Given the description of an element on the screen output the (x, y) to click on. 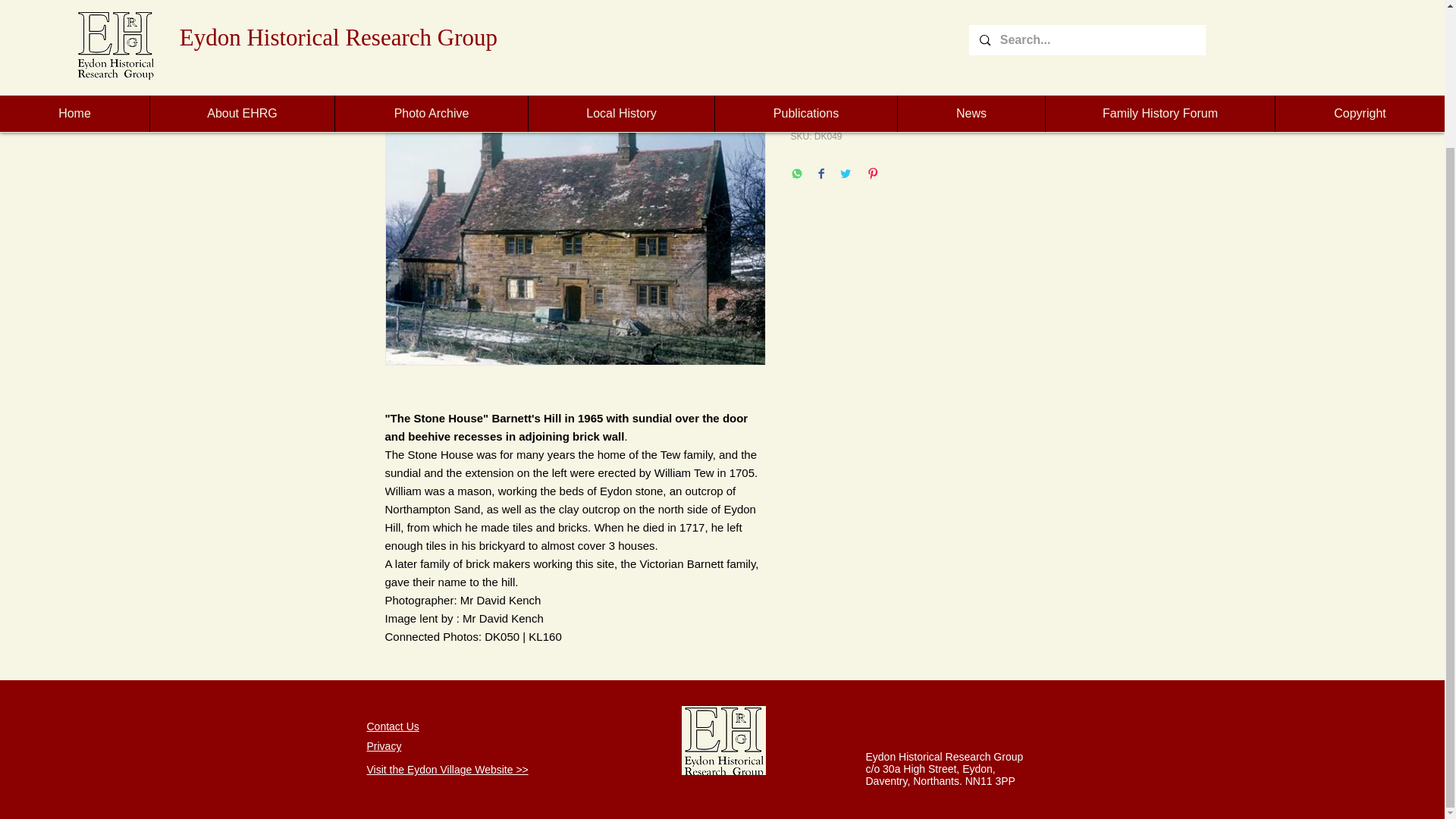
Contact Us (392, 726)
Privacy (383, 746)
